Given the description of an element on the screen output the (x, y) to click on. 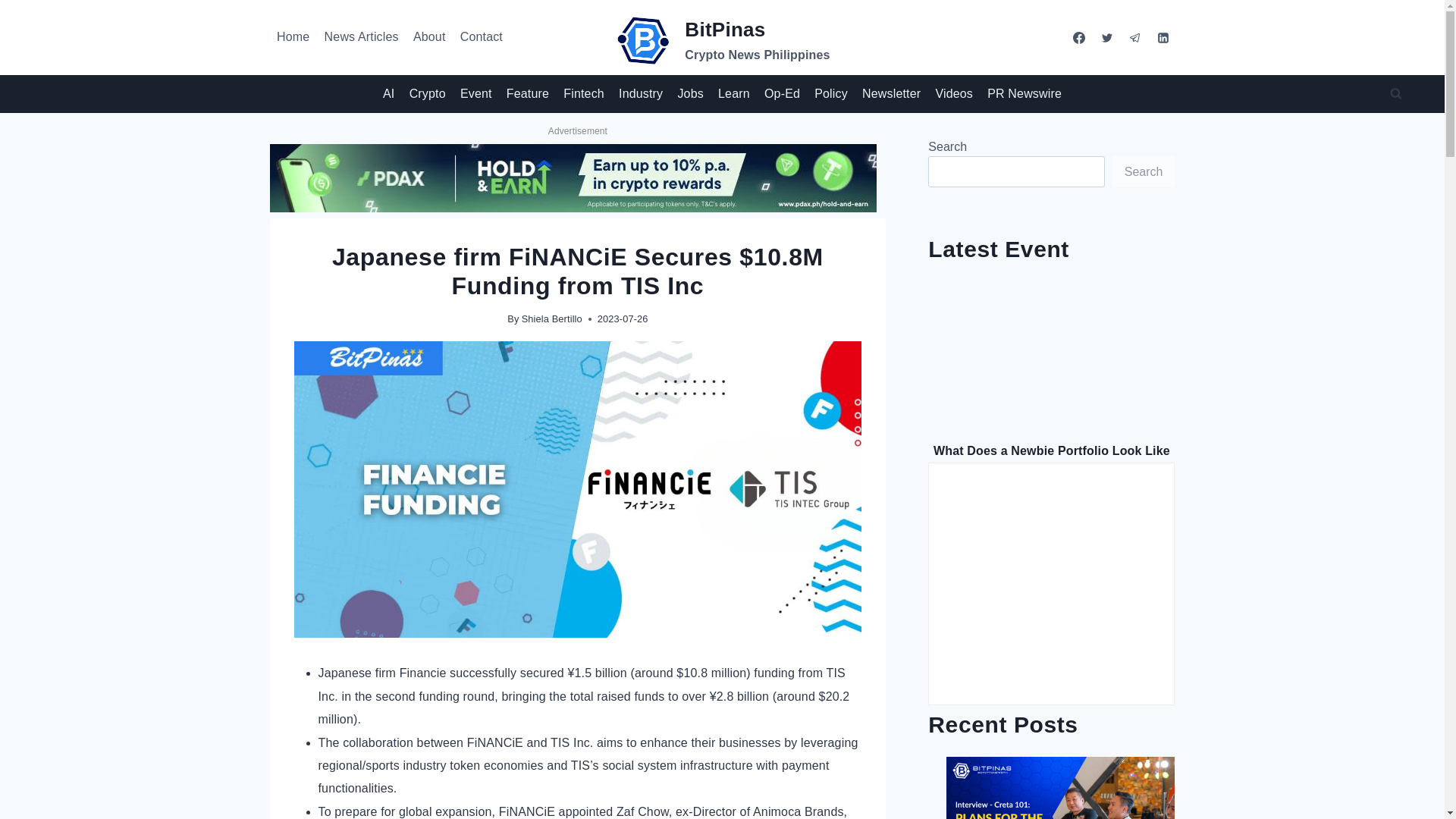
Search (1143, 171)
Policy (832, 94)
About (429, 37)
Crypto (426, 94)
Feature (527, 94)
Jobs (690, 94)
Newsletter (721, 40)
News Articles (890, 94)
Learn (361, 37)
Videos (733, 94)
Shiela Bertillo (953, 94)
Contact (551, 318)
Industry (480, 37)
Web3 Gaming Platform Creta To Launch Beta Version in PH 3 (640, 94)
